Given the description of an element on the screen output the (x, y) to click on. 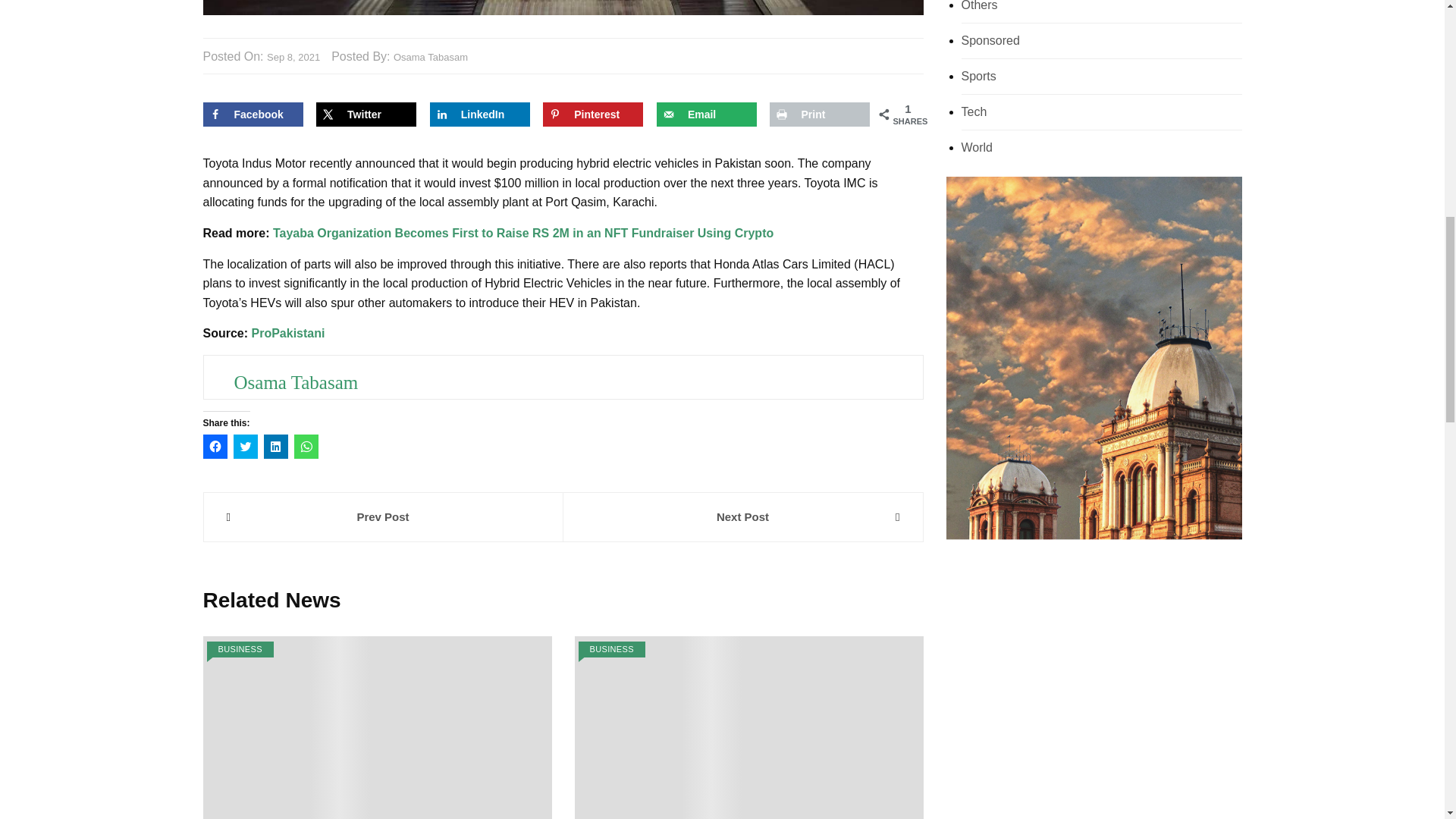
Share on Facebook (252, 114)
Pinterest (593, 114)
Share on LinkedIn (479, 114)
Save to Pinterest (593, 114)
Print this webpage (819, 114)
Prev Post (381, 516)
Share on X (365, 114)
Click to share on WhatsApp (306, 446)
Sep 8, 2021 (293, 57)
